Given the description of an element on the screen output the (x, y) to click on. 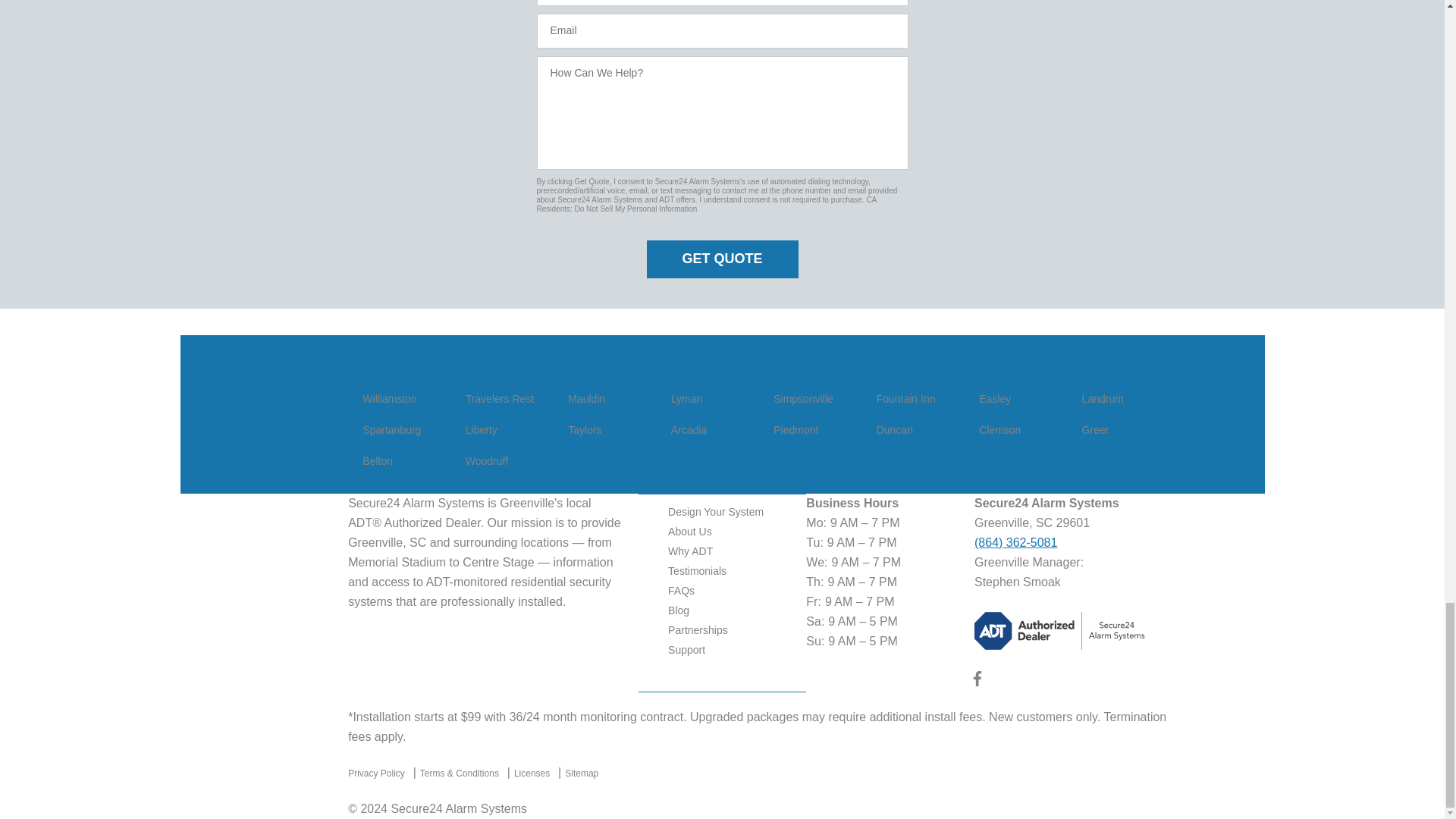
GET QUOTE (721, 259)
Like us on Facebook (977, 681)
